Given the description of an element on the screen output the (x, y) to click on. 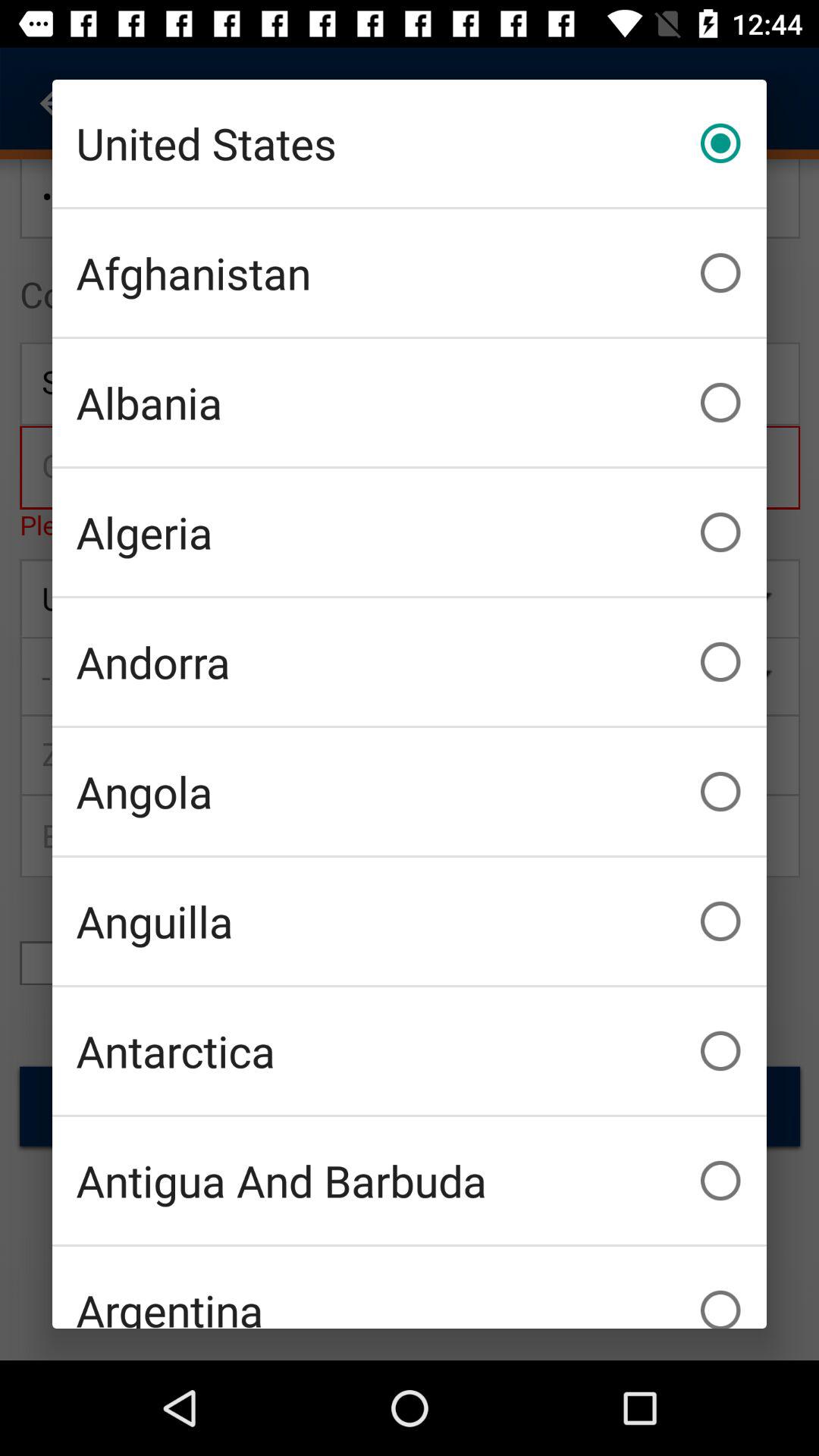
turn on item above the albania icon (409, 272)
